Given the description of an element on the screen output the (x, y) to click on. 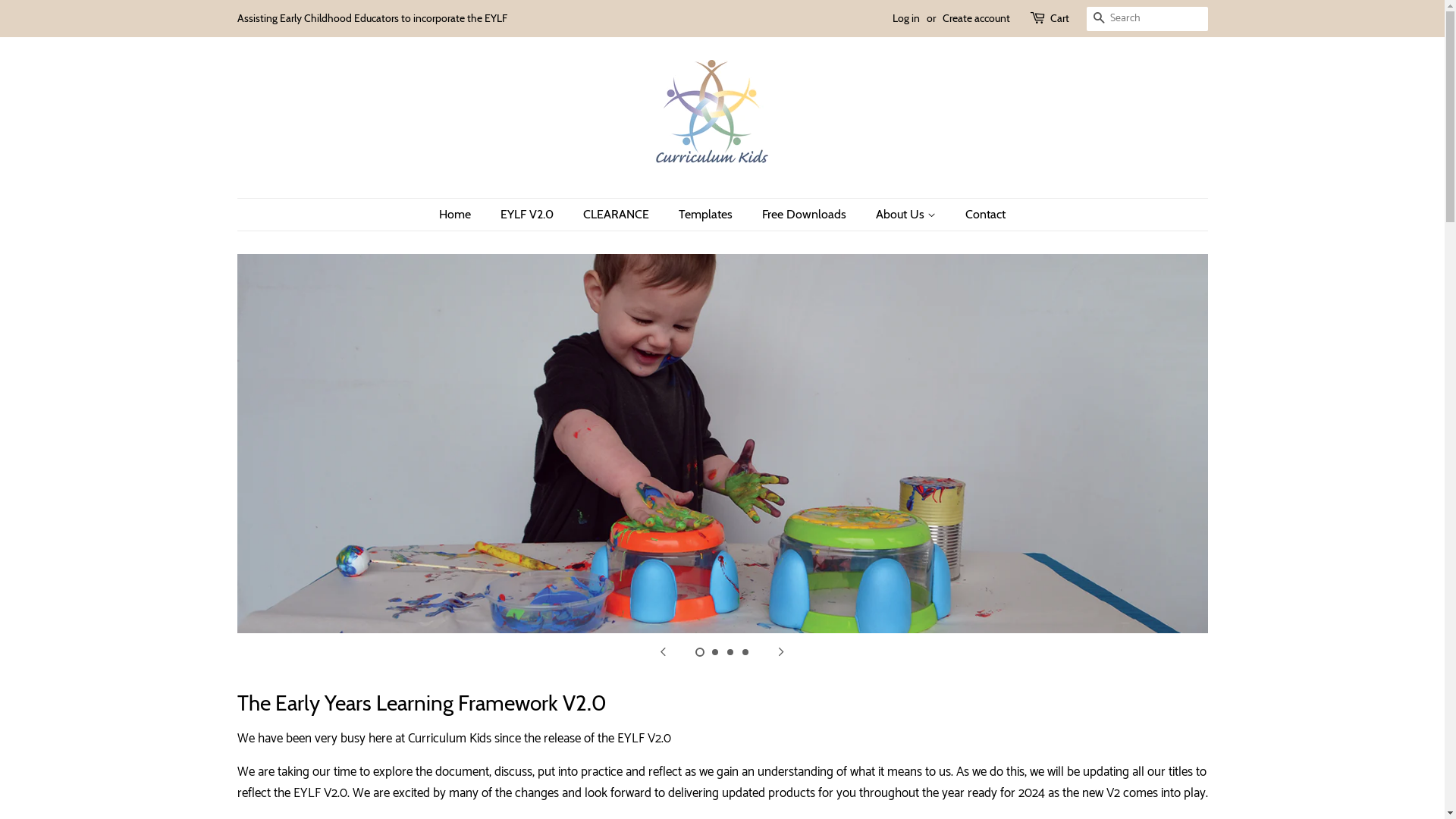
Cart Element type: text (1058, 18)
4 Element type: text (744, 651)
Templates Element type: text (707, 213)
EYLF V2.0 Element type: text (528, 213)
2 Element type: text (713, 651)
Home Element type: text (462, 213)
1 Element type: text (698, 651)
Contact Element type: text (979, 213)
Log in Element type: text (905, 18)
Search Element type: text (1097, 18)
About Us Element type: text (907, 213)
CLEARANCE Element type: text (617, 213)
3 Element type: text (729, 651)
Create account Element type: text (975, 18)
Free Downloads Element type: text (805, 213)
